Given the description of an element on the screen output the (x, y) to click on. 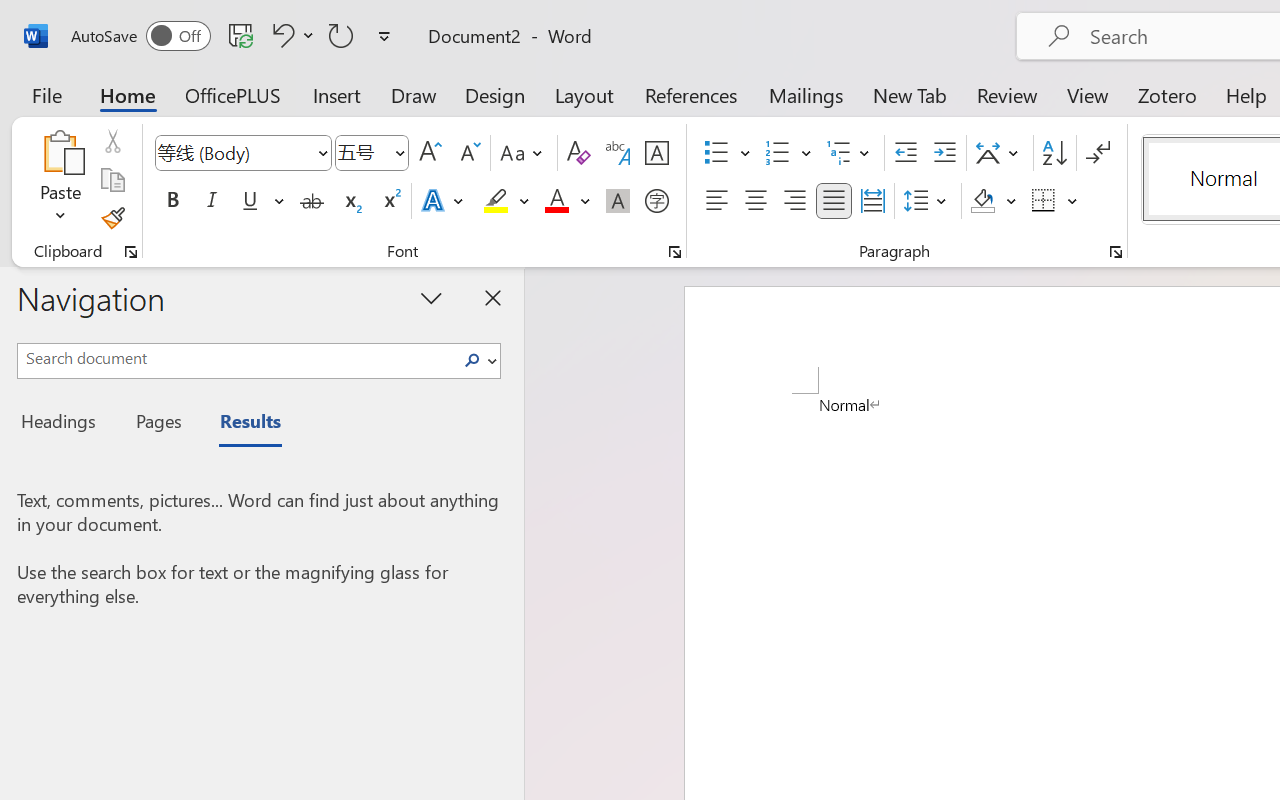
Numbering (778, 153)
Format Painter (112, 218)
Font Color Red (556, 201)
Change Case (524, 153)
Italic (212, 201)
Sort... (1054, 153)
Zotero (1166, 94)
Shading (993, 201)
Layout (584, 94)
Paste (60, 151)
New Tab (909, 94)
Increase Indent (944, 153)
Copy (112, 179)
Strikethrough (312, 201)
Borders (1044, 201)
